Given the description of an element on the screen output the (x, y) to click on. 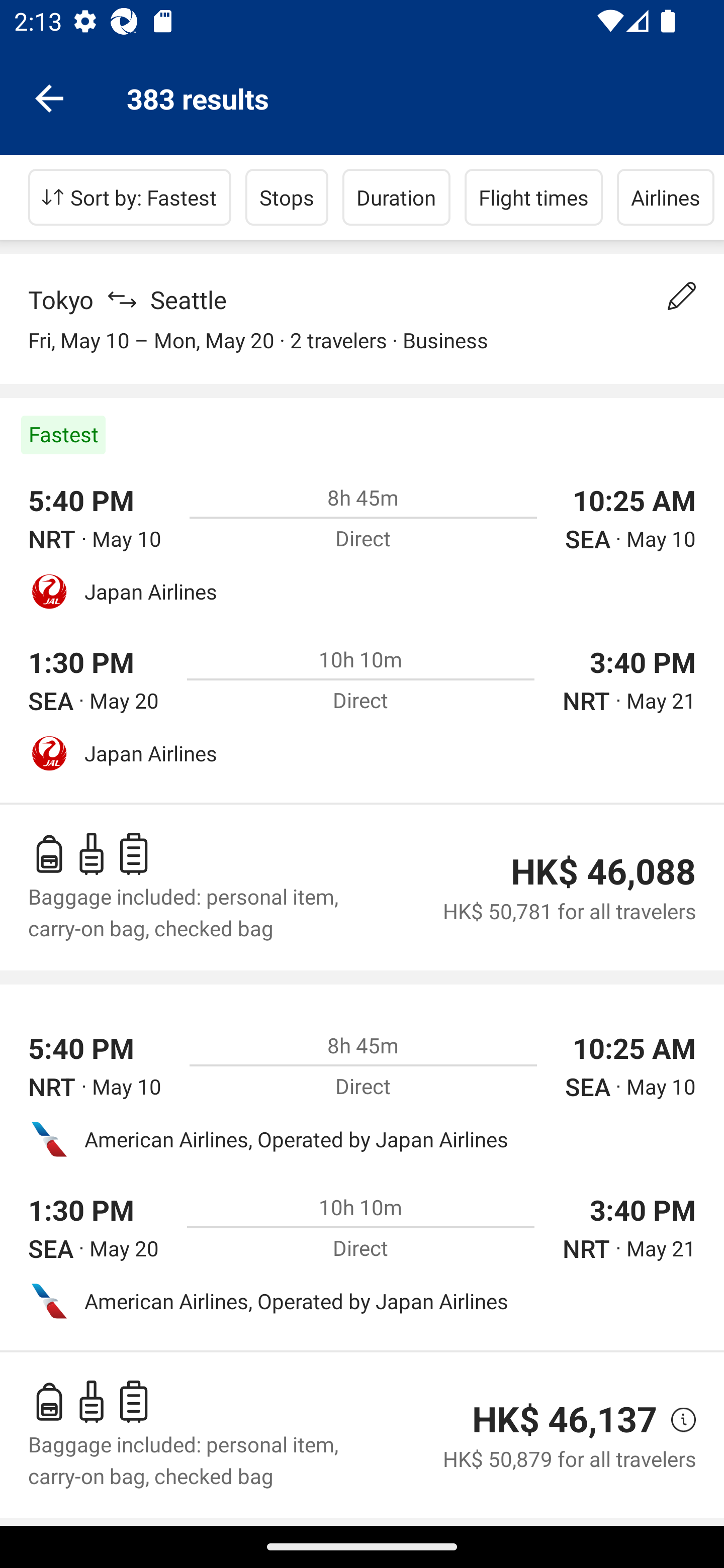
Navigate up (49, 97)
Sort by: Fastest (129, 197)
Stops (286, 197)
Duration (396, 197)
Flight times (533, 197)
Airlines (665, 197)
Change your search details (681, 296)
HK$ 46,088 (603, 871)
HK$ 46,137 (564, 1419)
view price details, opens a pop-up (676, 1419)
